Given the description of an element on the screen output the (x, y) to click on. 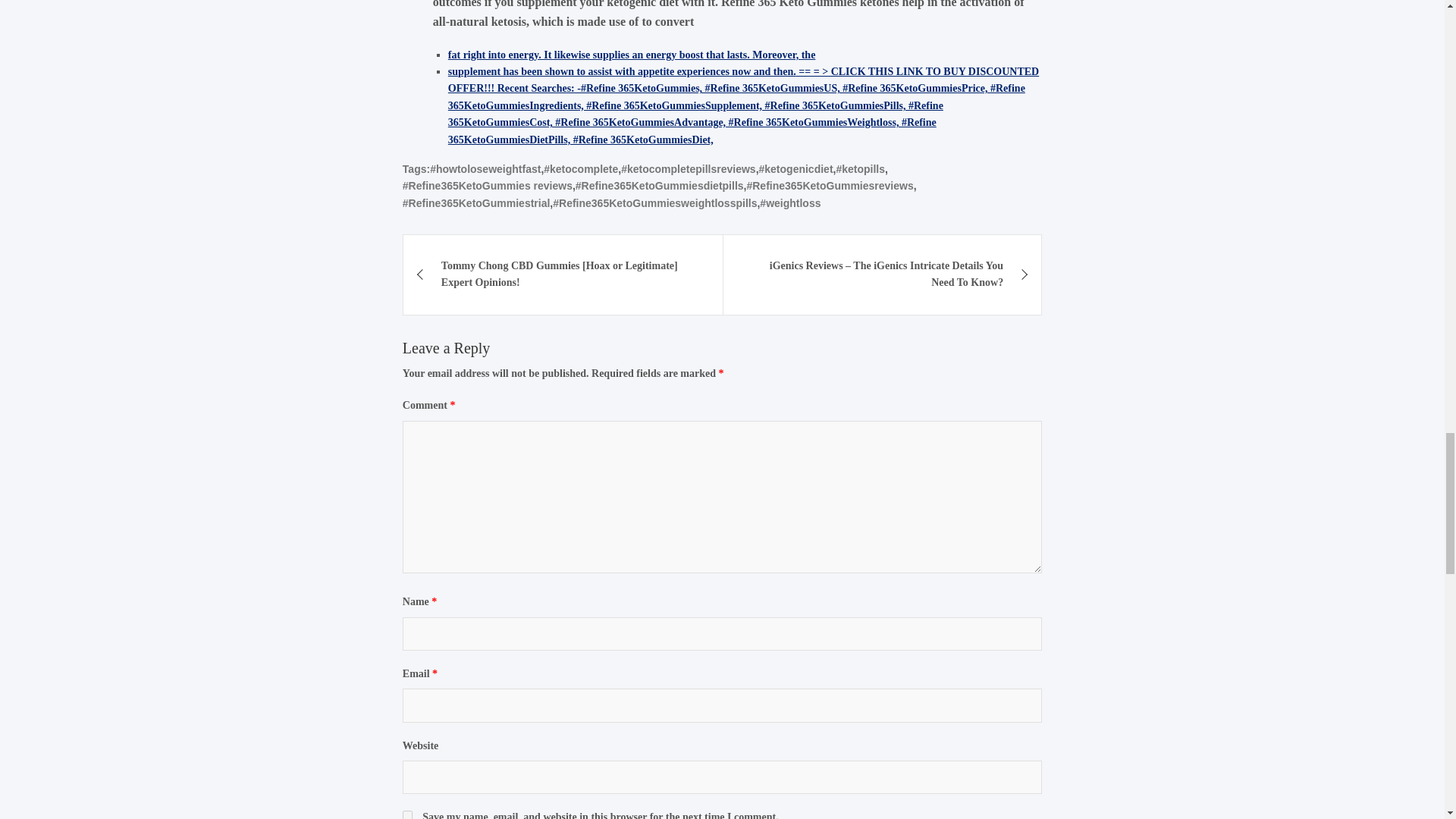
yes (407, 814)
